Given the description of an element on the screen output the (x, y) to click on. 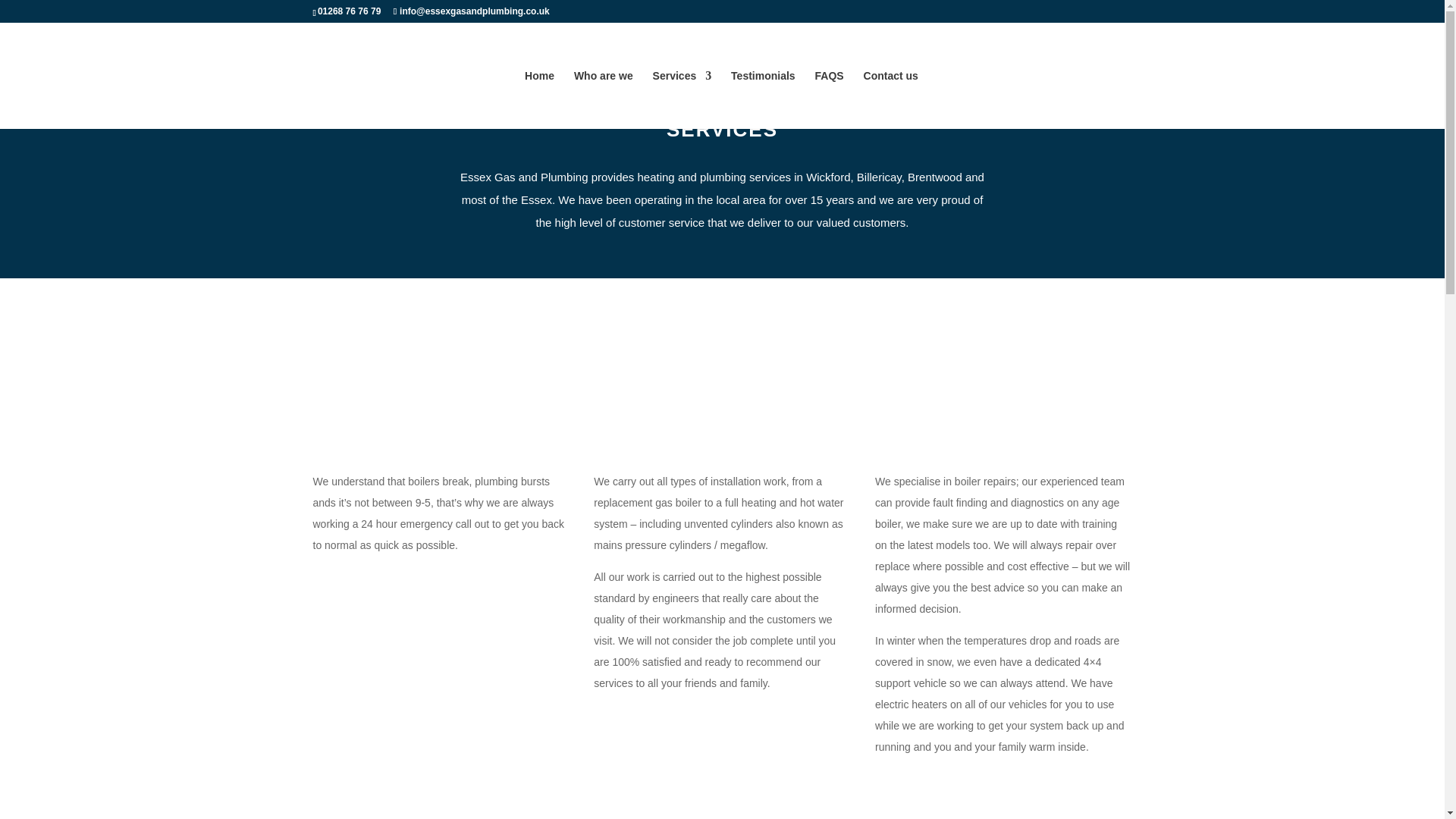
Contact us (890, 99)
Who are we (603, 99)
Testimonials (762, 99)
Services (681, 99)
